Given the description of an element on the screen output the (x, y) to click on. 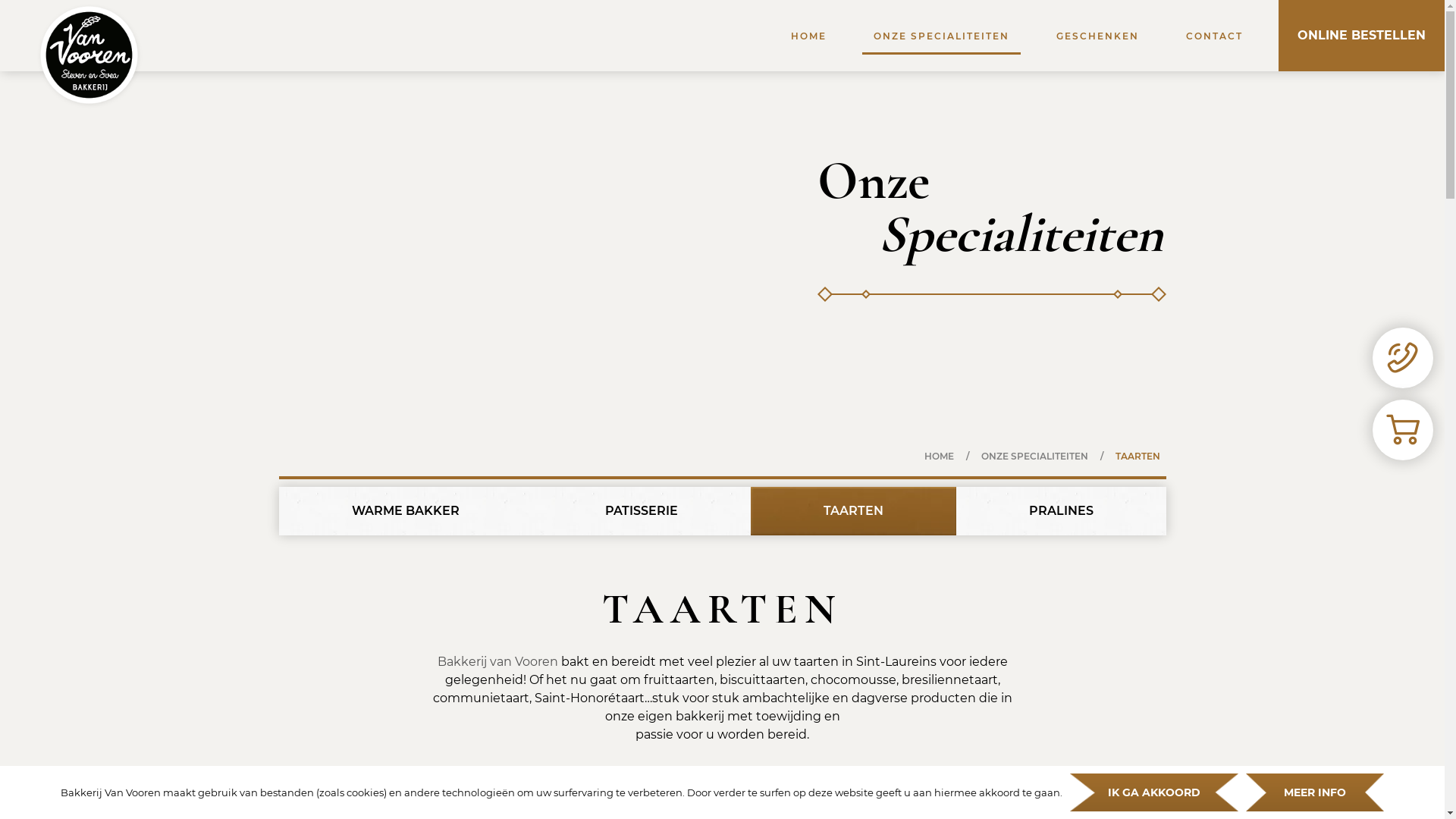
Bakkerij van Vooren Element type: text (496, 661)
WARME BAKKER Element type: text (405, 510)
CONTACT Element type: text (1214, 36)
ONZE SPECIALITEITEN Element type: text (1034, 455)
ONLINE BESTELLEN Element type: text (1361, 35)
GESCHENKEN Element type: text (1097, 36)
HOME Element type: text (808, 36)
HOME Element type: text (938, 455)
TAARTEN Element type: text (853, 510)
ONZE SPECIALITEITEN Element type: text (941, 36)
PRALINES Element type: text (1060, 510)
PATISSERIE Element type: text (641, 510)
IK GA AKKOORD Element type: text (1154, 792)
MEER INFO Element type: text (1314, 792)
